Given the description of an element on the screen output the (x, y) to click on. 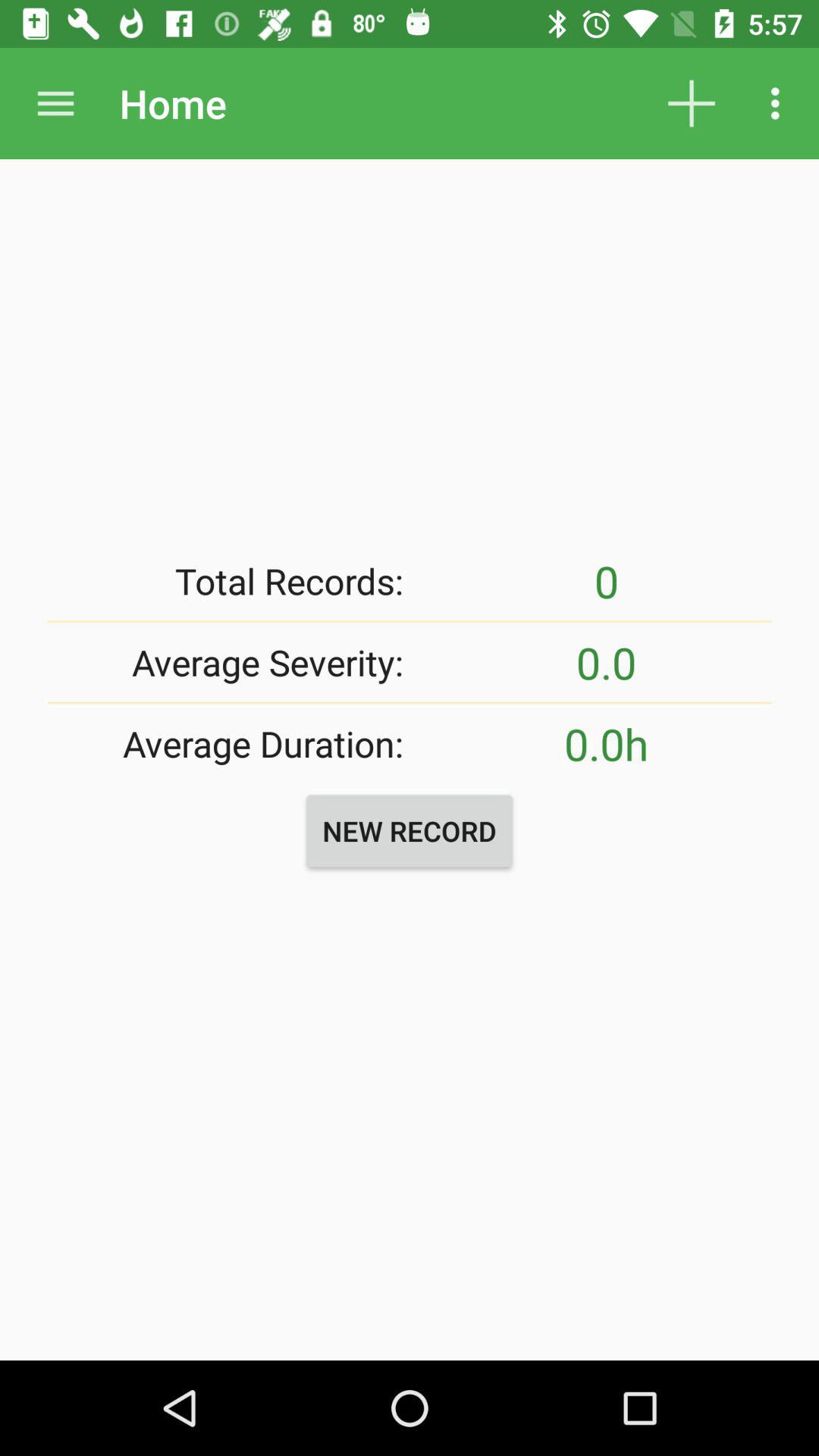
open icon next to home item (55, 103)
